Given the description of an element on the screen output the (x, y) to click on. 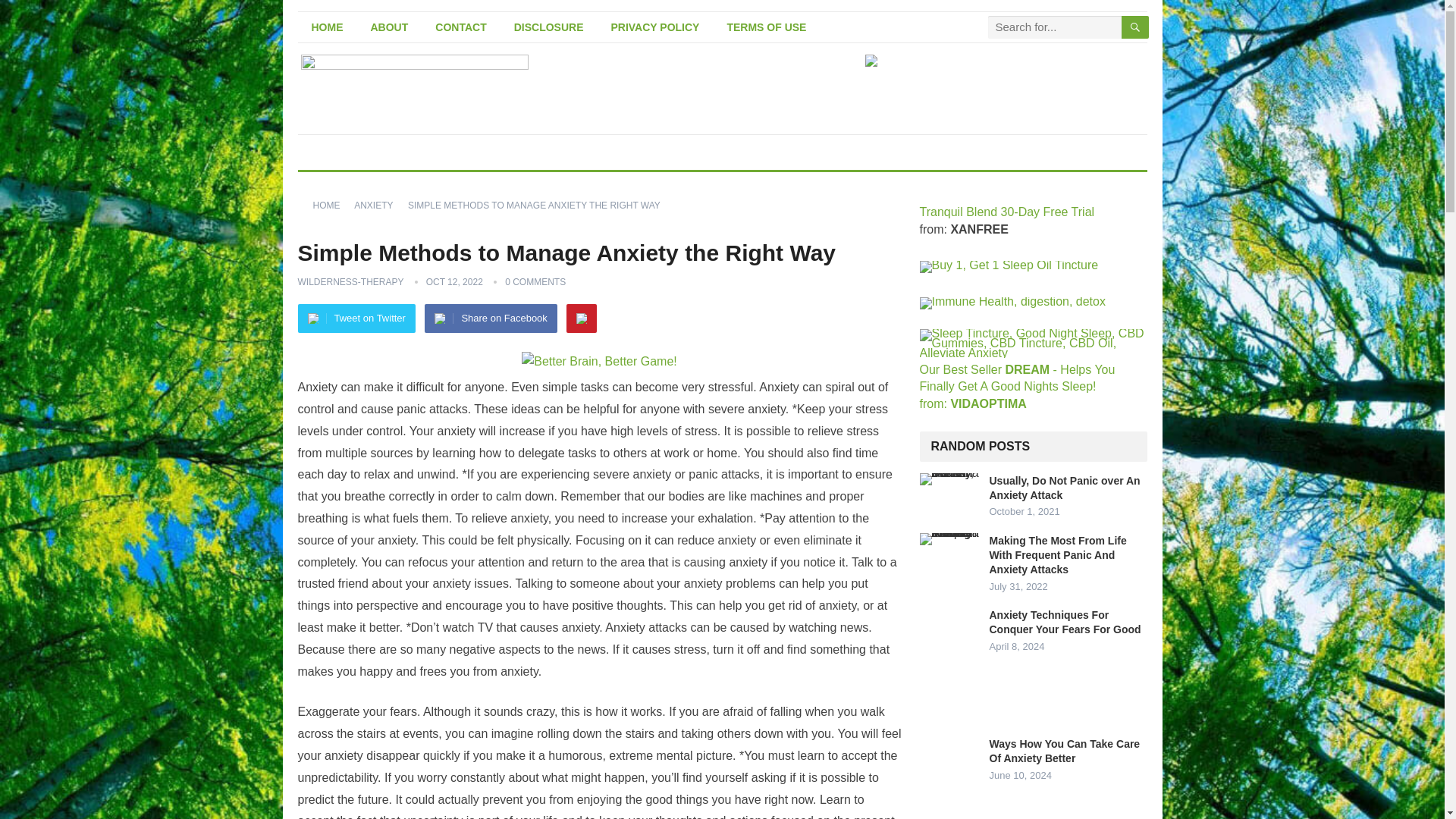
ABOUT (389, 27)
PRIVACY POLICY (654, 27)
HOME (326, 27)
TERMS OF USE (766, 27)
View all posts in Anxiety (378, 204)
WILDERNESS-THERAPY (350, 281)
0 COMMENTS (535, 281)
Tweet on Twitter (355, 317)
Share on Facebook (490, 317)
HOME (331, 204)
